Given the description of an element on the screen output the (x, y) to click on. 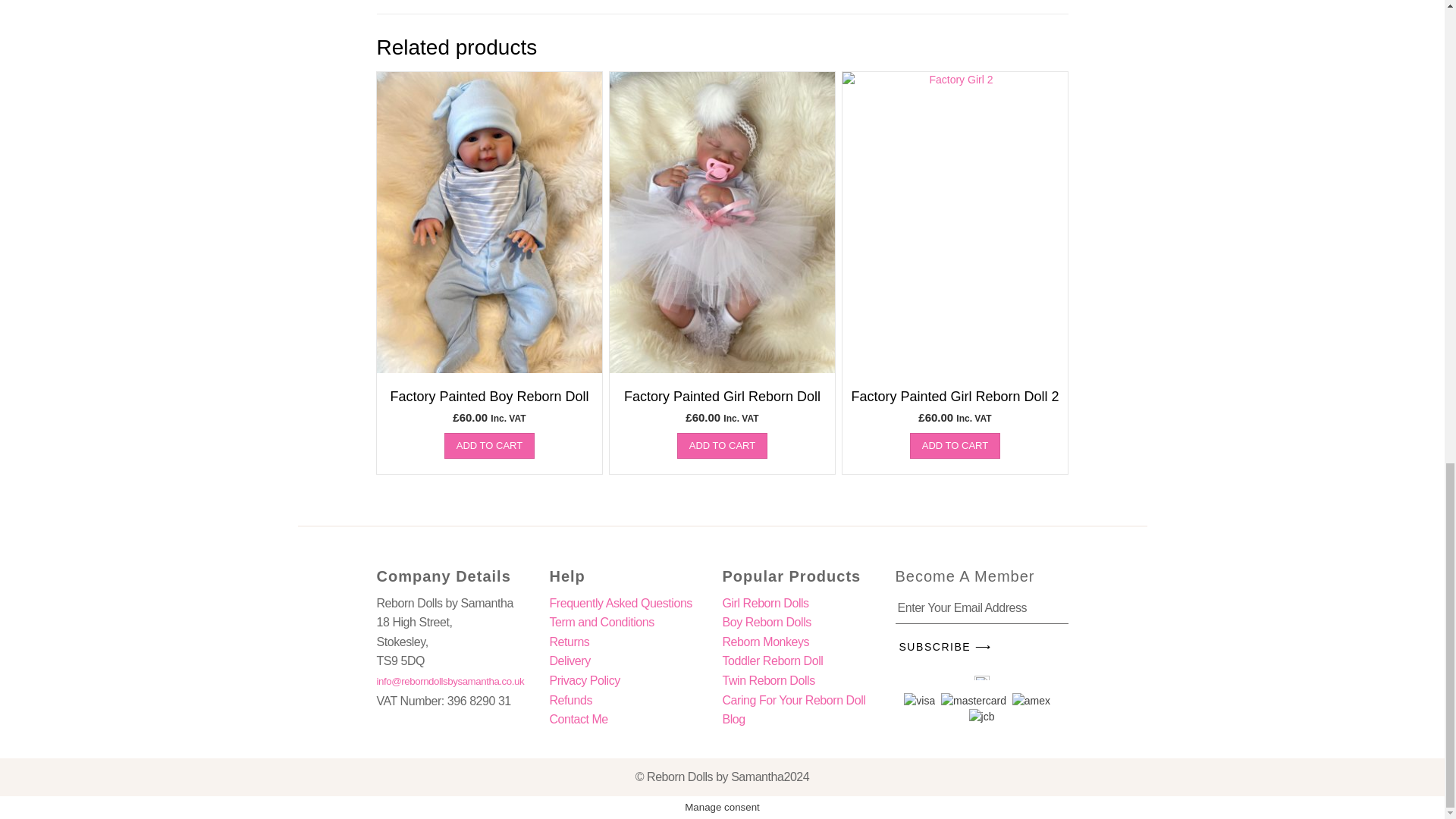
ADD TO CART (489, 445)
Frequently Asked Questions (619, 603)
Term and Conditions (600, 621)
ADD TO CART (722, 445)
ADD TO CART (955, 445)
Delivery (568, 660)
Privacy Policy (584, 680)
Contact Me (577, 718)
Refunds (569, 699)
Returns (568, 641)
